Given the description of an element on the screen output the (x, y) to click on. 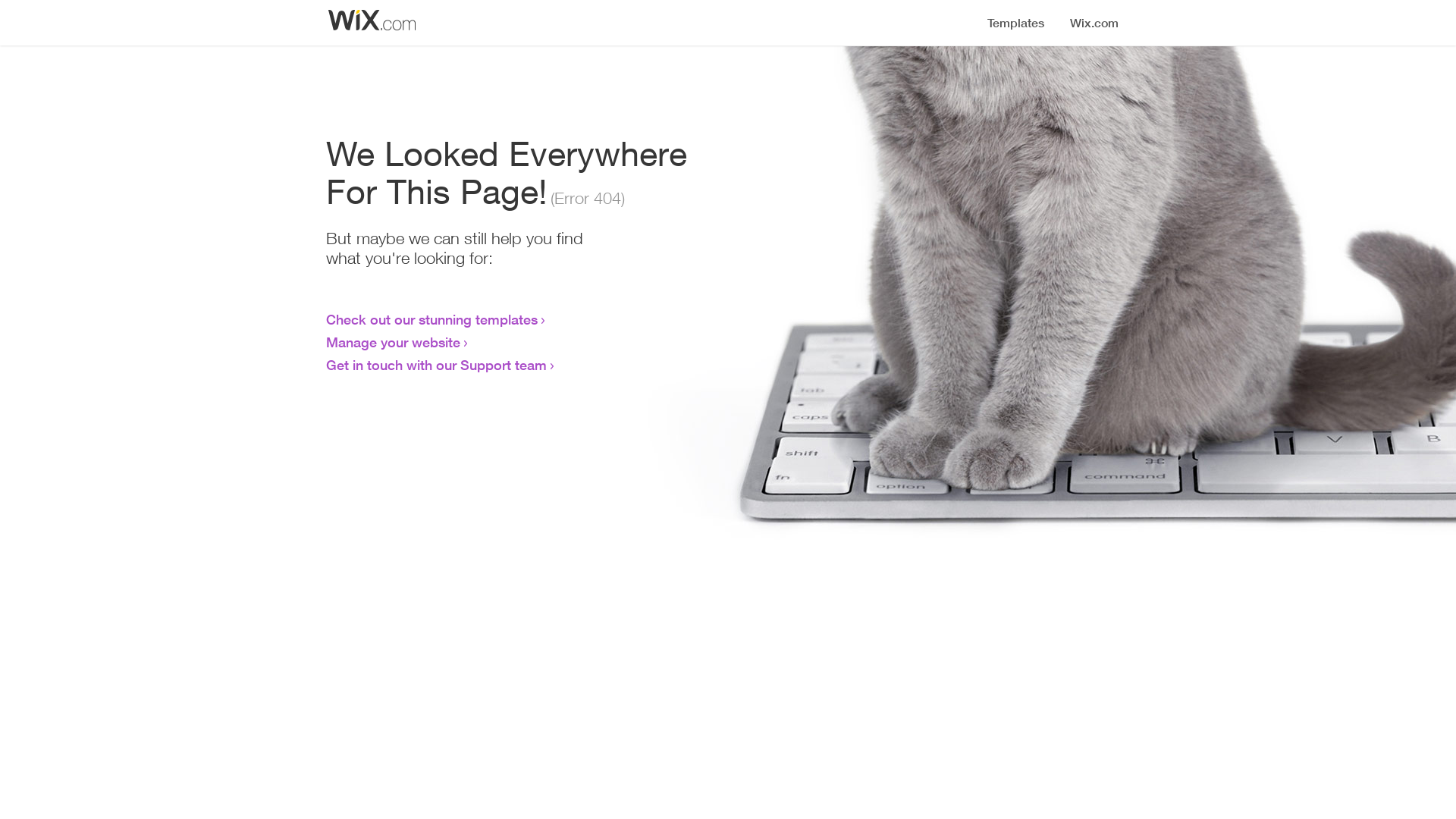
Get in touch with our Support team Element type: text (436, 364)
Check out our stunning templates Element type: text (431, 318)
Manage your website Element type: text (393, 341)
